Given the description of an element on the screen output the (x, y) to click on. 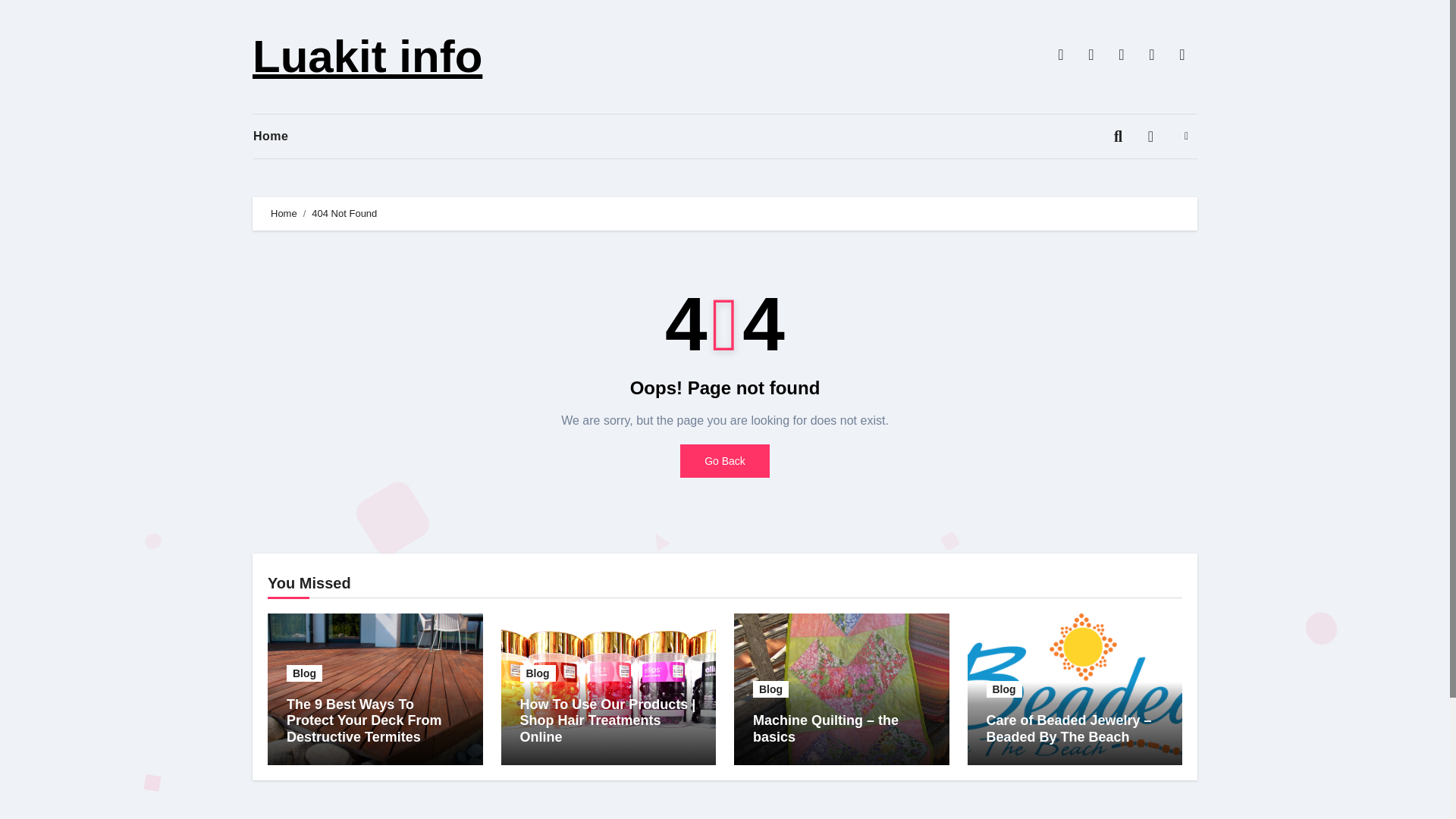
Blog (303, 673)
Blog (537, 673)
Go Back (724, 460)
Home (282, 136)
Home (282, 136)
Blog (1003, 688)
Luakit info (366, 56)
Home (283, 213)
Blog (770, 688)
